Given the description of an element on the screen output the (x, y) to click on. 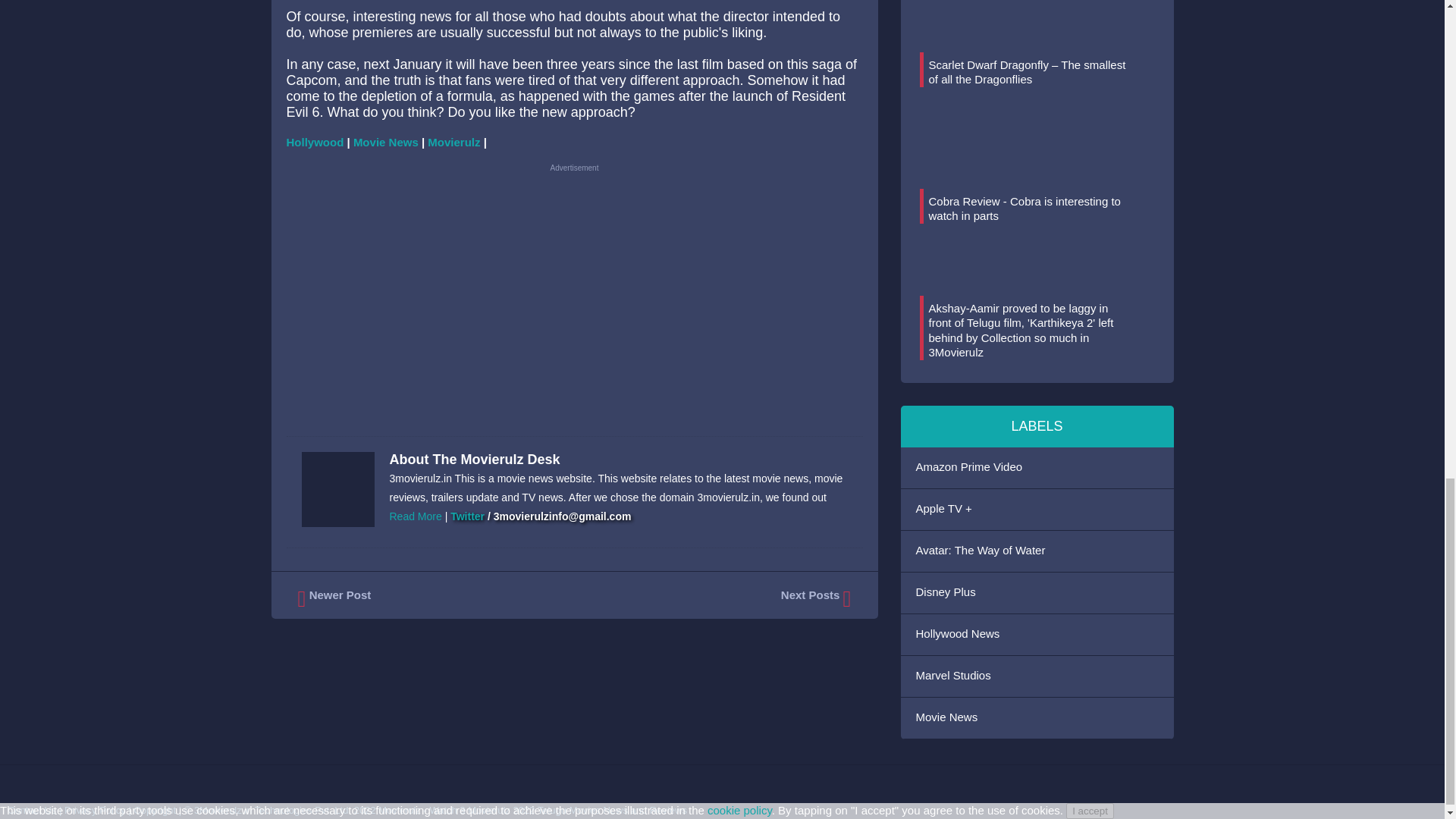
Avatar: The Way of Water (1037, 550)
Hollywood (314, 141)
Marvel Studios (1037, 676)
Read More (416, 516)
Movie News (386, 141)
Disney Plus (1037, 592)
Amazon Prime Video (1037, 467)
Hollywood News (1037, 634)
Cobra Review - Cobra is interesting to watch in parts (1023, 208)
Twitter (466, 516)
Movierulz (454, 141)
